Given the description of an element on the screen output the (x, y) to click on. 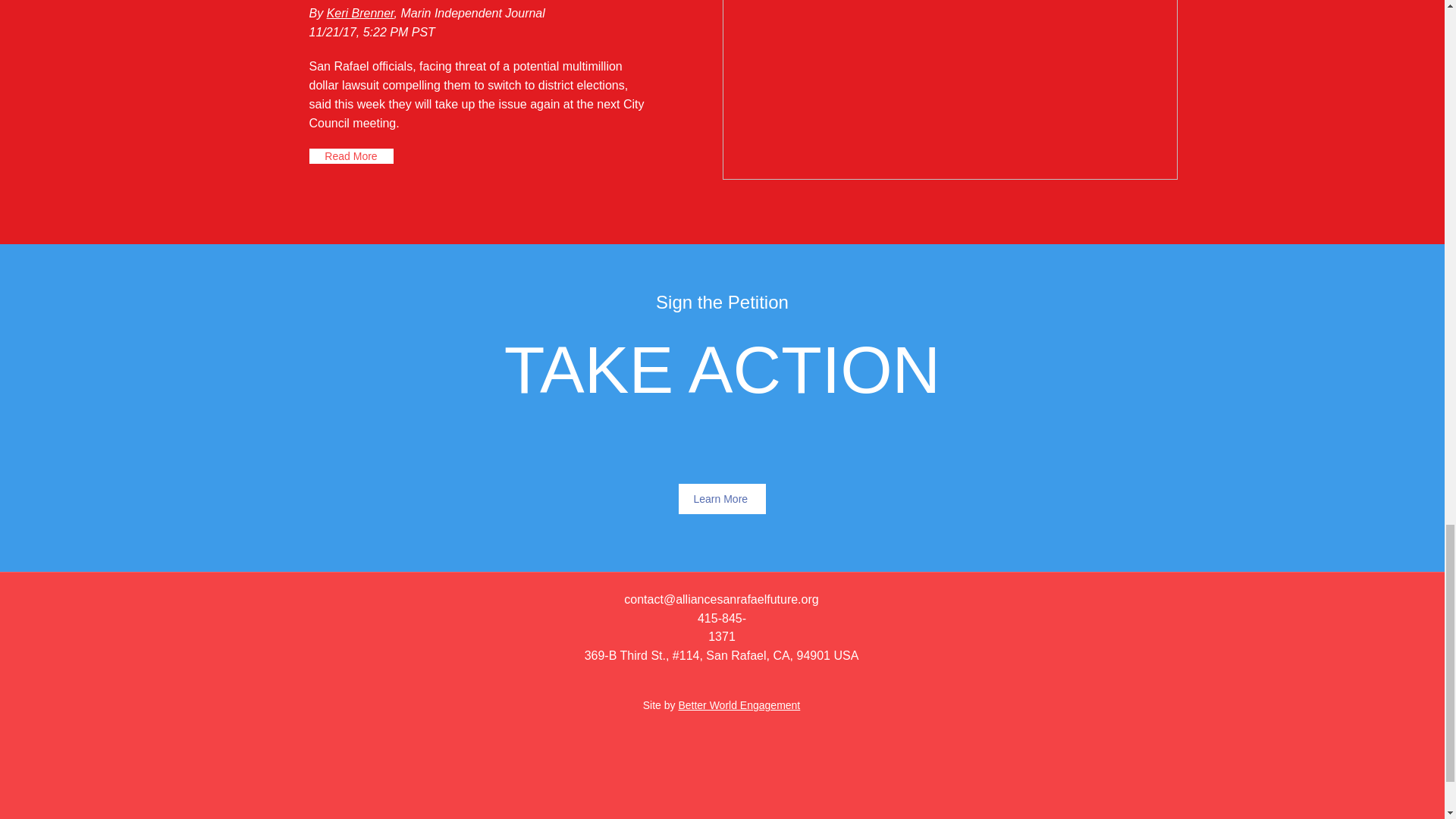
Learn More (721, 499)
Better World Engagement (738, 705)
Keri Brenner (360, 12)
Read More (350, 155)
